Given the description of an element on the screen output the (x, y) to click on. 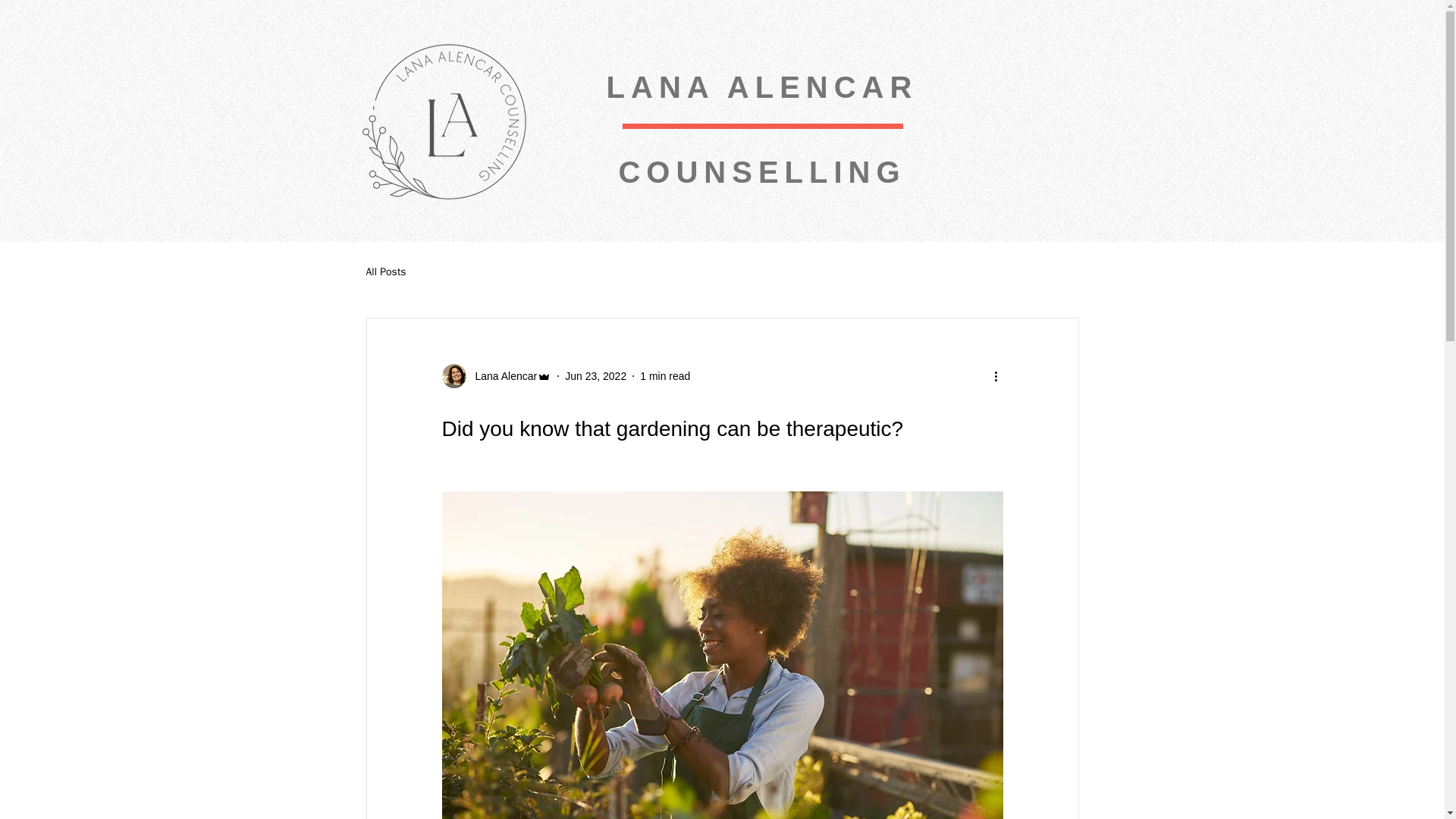
Jun 23, 2022 (595, 376)
Lana Alencar (501, 376)
LANA ALENCAR (762, 87)
1 min read (665, 376)
All Posts (385, 272)
Lana Alencar (496, 375)
 COUNSELLING  (762, 172)
